Given the description of an element on the screen output the (x, y) to click on. 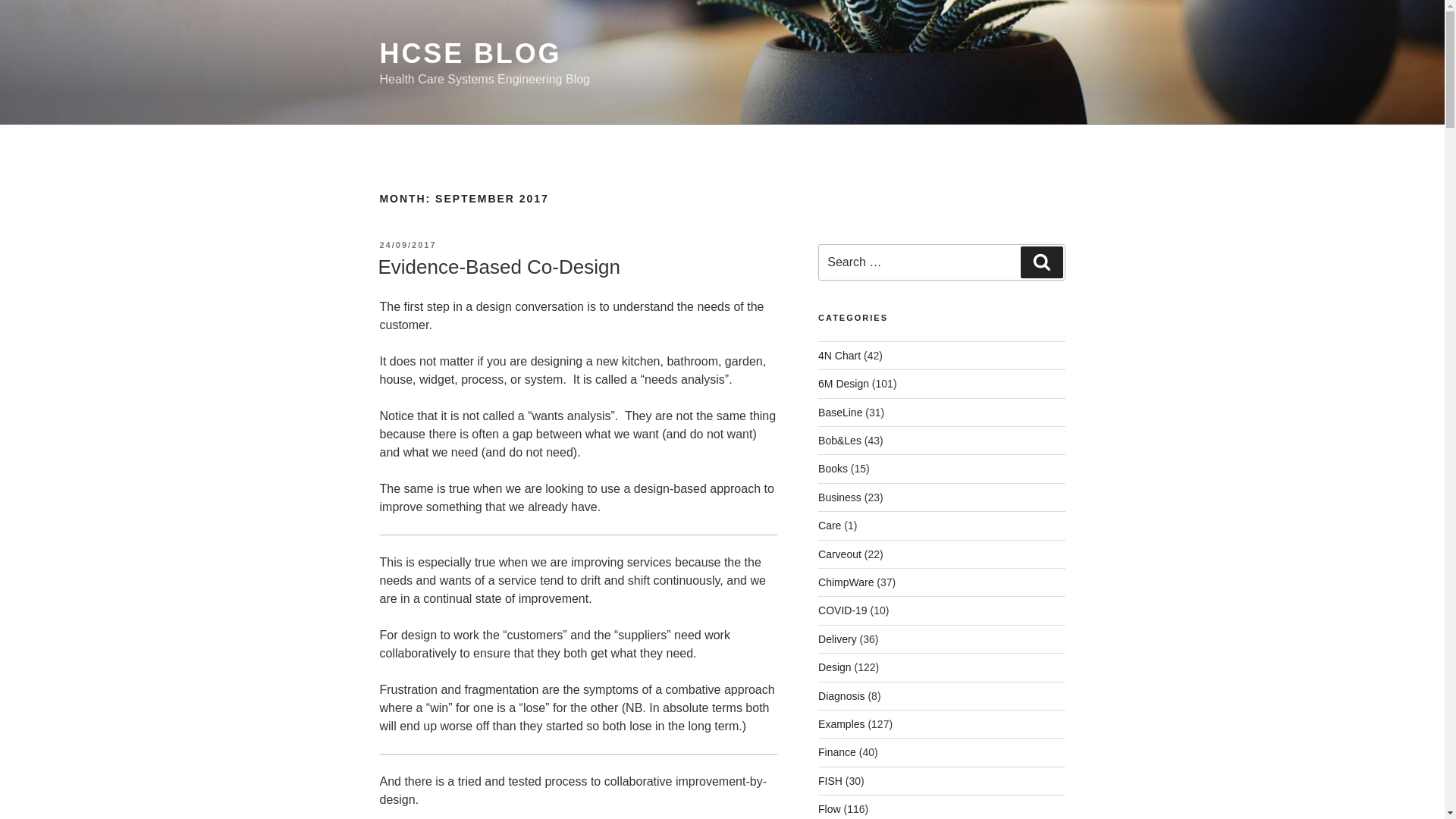
Diagnosis (841, 695)
6M Design (843, 383)
Books (832, 468)
4N Chart (839, 355)
FISH (830, 780)
COVID-19 (842, 610)
Evidence-Based Co-Design (498, 266)
Examples (841, 724)
Care (829, 525)
Flow (829, 808)
Delivery (837, 639)
BaseLine (839, 412)
Business (839, 497)
ChimpWare (845, 582)
Design (834, 666)
